Given the description of an element on the screen output the (x, y) to click on. 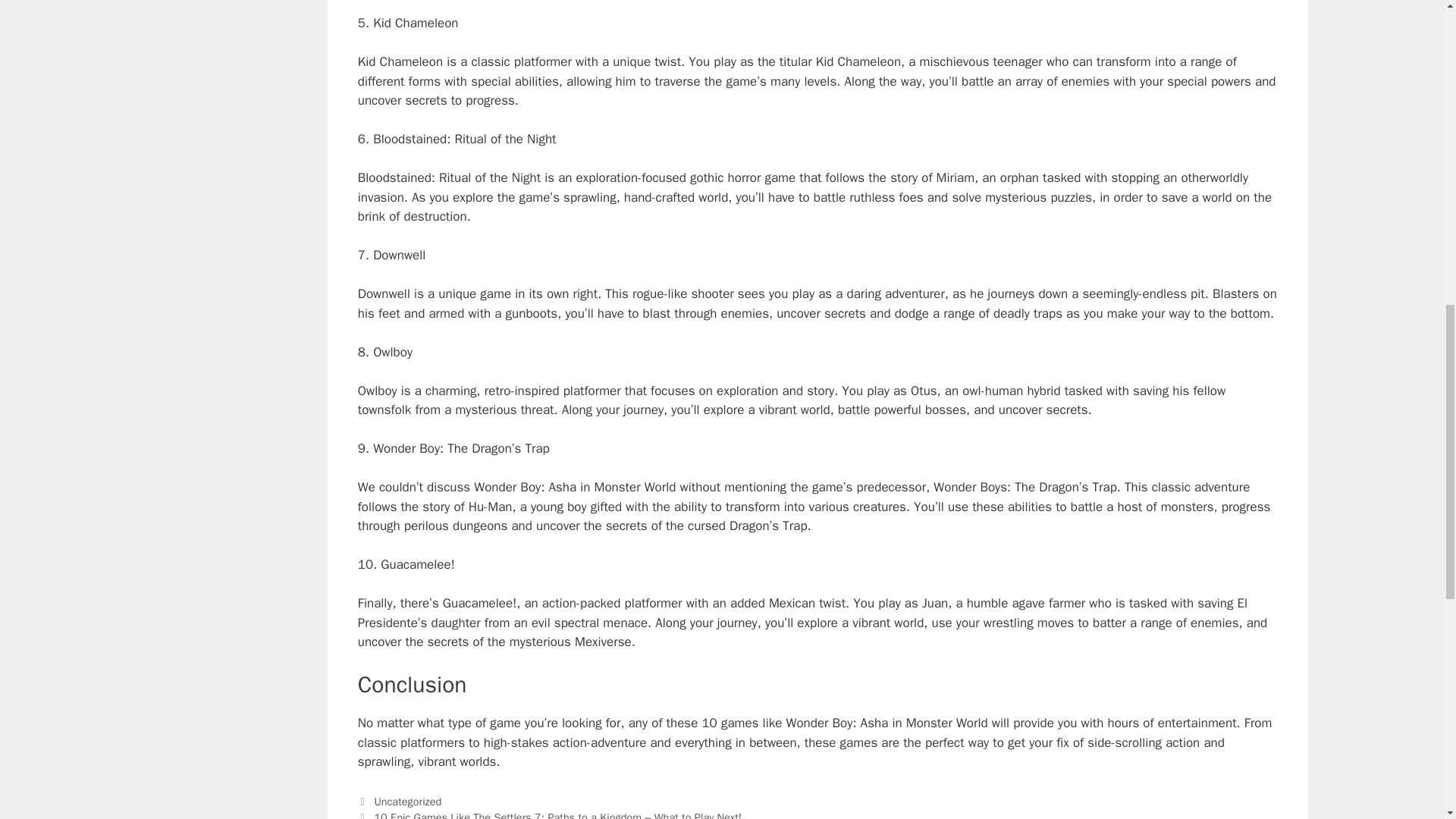
Uncategorized (407, 801)
Previous (549, 814)
